Given the description of an element on the screen output the (x, y) to click on. 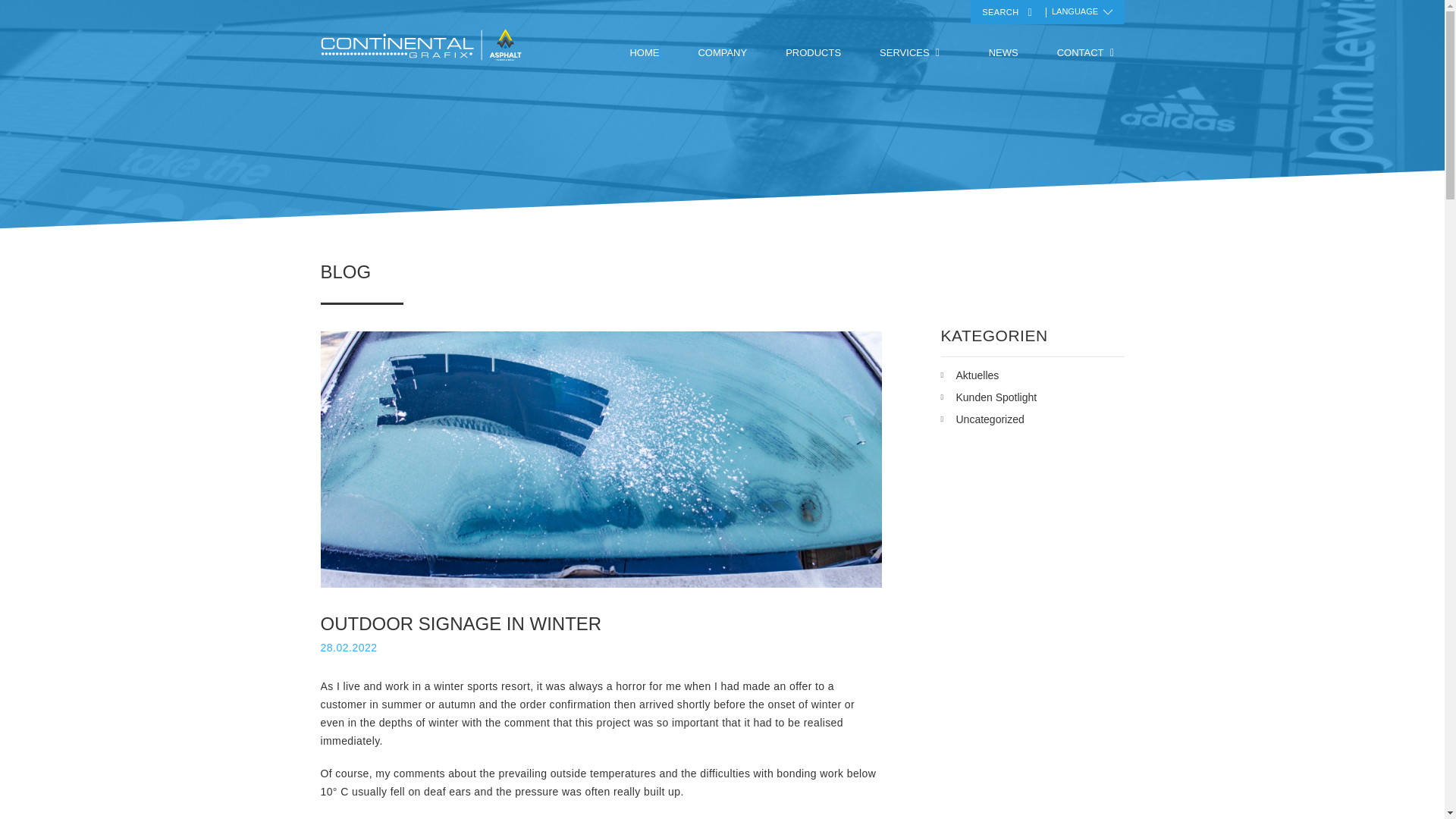
COMPANY (721, 53)
NEWS (1002, 53)
PRODUCTS (813, 53)
LANGUAGE (1079, 10)
SEARCH (1013, 12)
CONTACT (1080, 53)
SERVICES (904, 53)
Kunden Spotlight (995, 398)
Aktuelles (976, 375)
Uncategorized (989, 420)
HOME (643, 53)
